Given the description of an element on the screen output the (x, y) to click on. 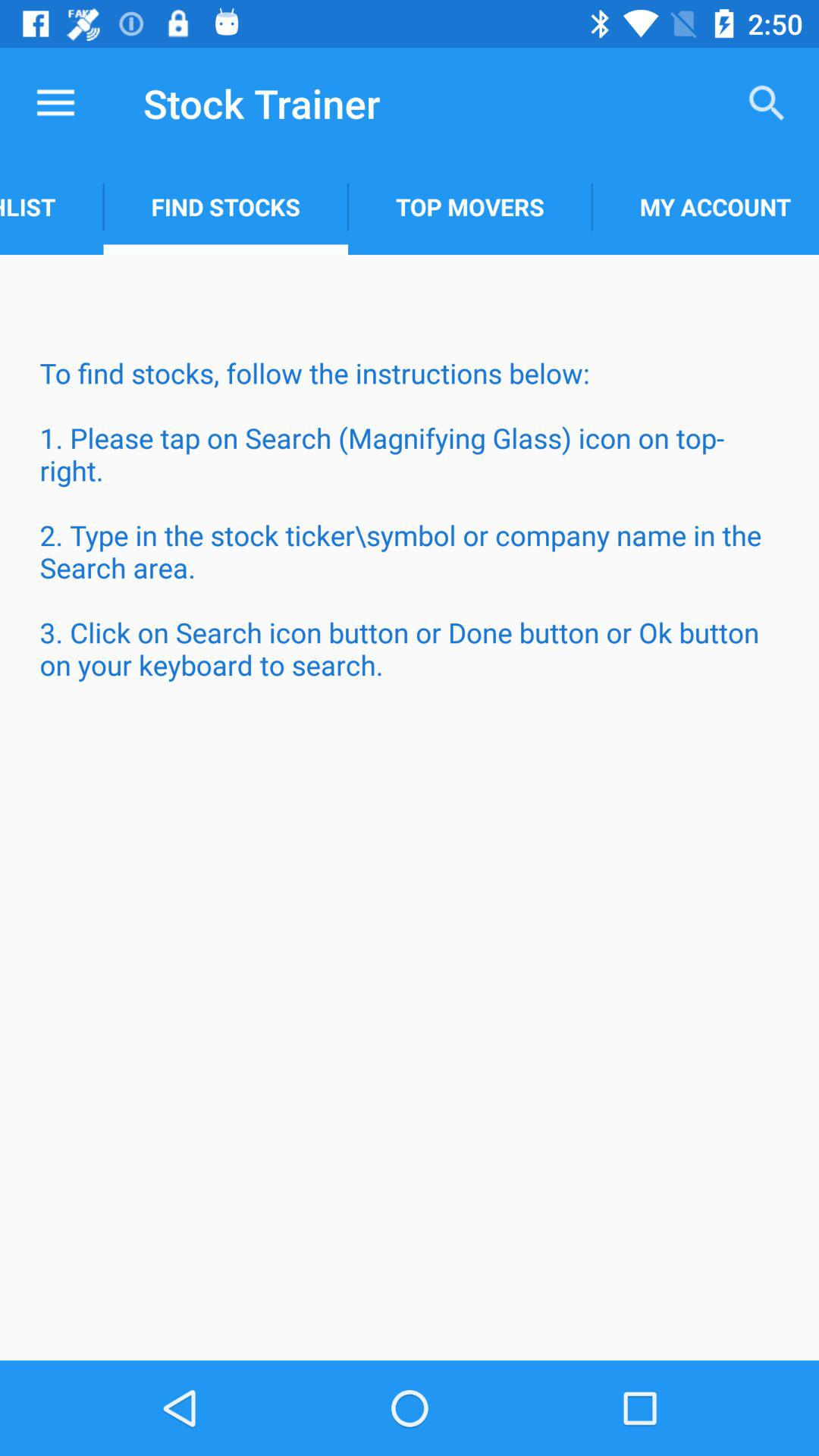
turn on the icon above the to find stocks item (705, 206)
